Given the description of an element on the screen output the (x, y) to click on. 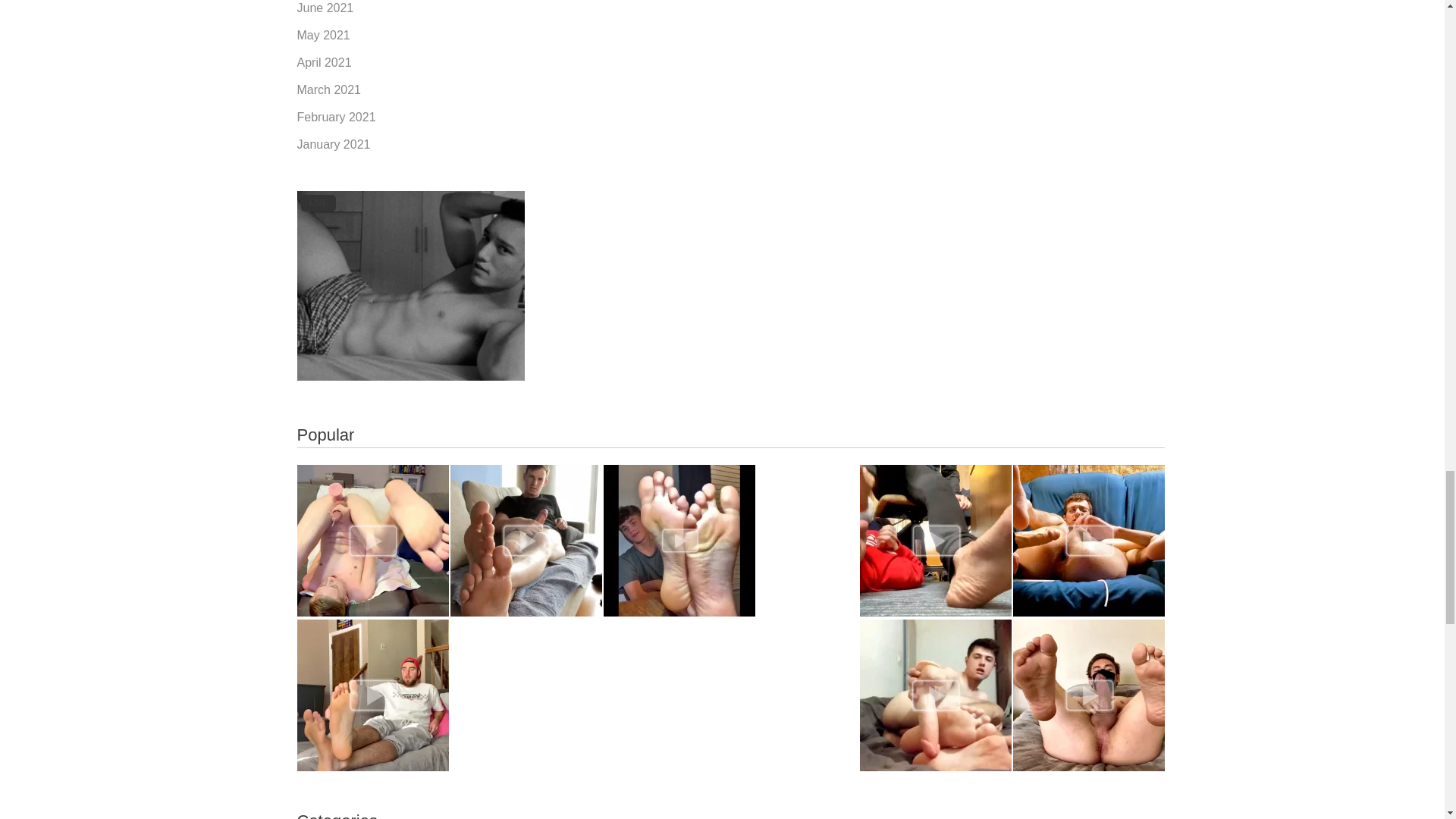
April 2021 (324, 62)
FootWoody Chris King - Flip Flops And Bare Soles (525, 540)
A Pole And Hole Plus Two Dirty Twink Soles (1088, 695)
Dirty Socks Master Allows Slave To Worship His Feet (372, 695)
March 2021 (329, 89)
Nerdy Twink Dildo Fuck (1088, 540)
January 2021 (334, 144)
May 2021 (323, 34)
Twink Feet And Dildo Fuck (935, 695)
Blake Dyson Feet - Fucking Myself On The Couch (372, 540)
February 2021 (336, 116)
Master Max Dominates Slave With His Cock And Feet (935, 540)
June 2021 (325, 7)
Young Master Owns You With His Perfect Feet (679, 540)
